Given the description of an element on the screen output the (x, y) to click on. 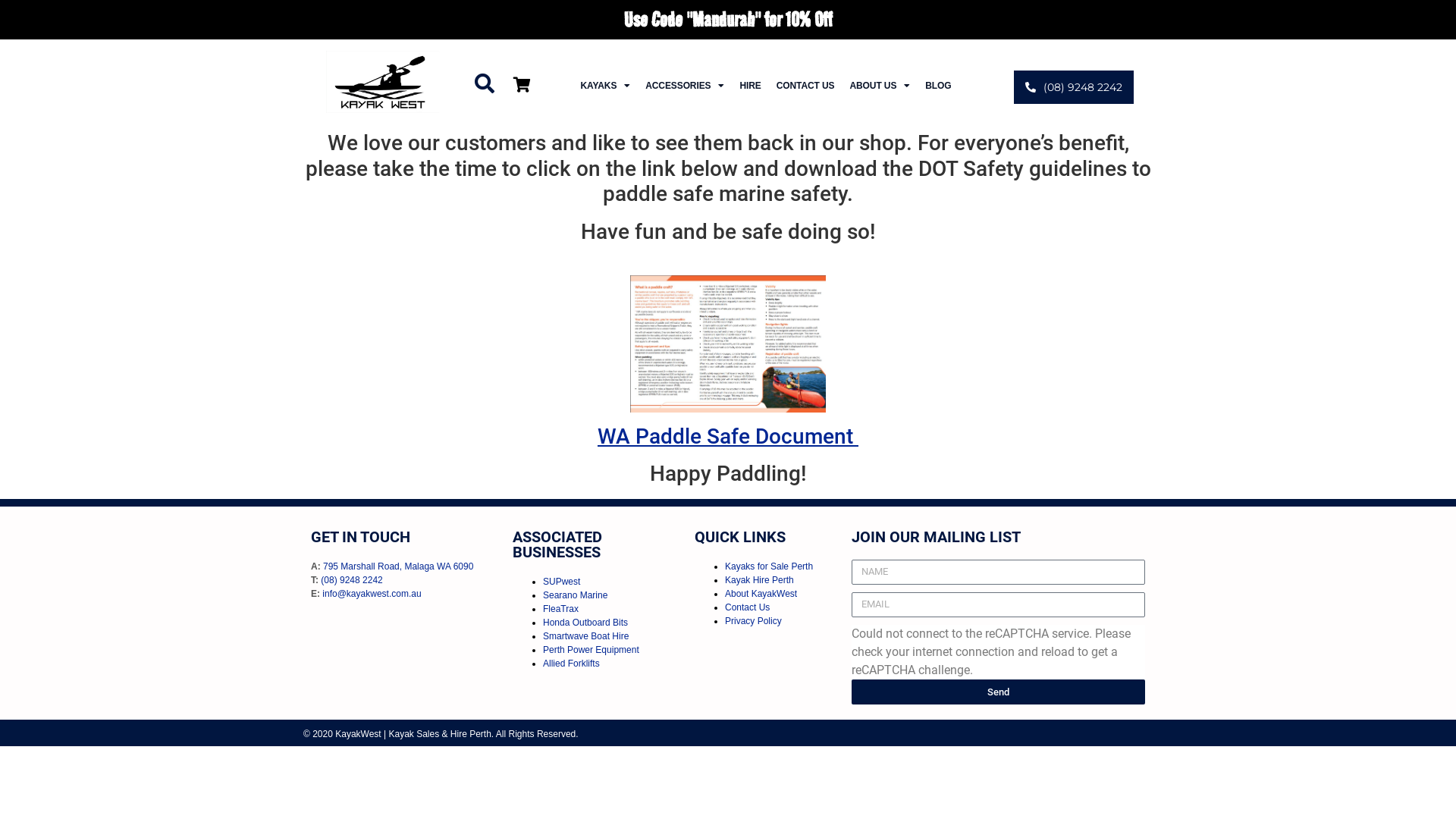
KAYAKS Element type: text (604, 85)
ACCESSORIES Element type: text (684, 85)
About KayakWest Element type: text (760, 593)
Perth Power Equipment Element type: text (590, 649)
Kayak Hire Perth Element type: text (758, 579)
BLOG Element type: text (937, 85)
FleaTrax Element type: text (560, 608)
Smartwave Boat Hire Element type: text (585, 635)
795 Marshall Road, Malaga WA 6090 Element type: text (398, 566)
Privacy Policy Element type: text (752, 620)
ABOUT US Element type: text (879, 85)
kayak west logo 50 275 Element type: hover (382, 81)
Allied Forklifts Element type: text (570, 663)
Contact Us Element type: text (746, 607)
Send Element type: text (998, 691)
WA Paddle Safe Document  Element type: text (727, 435)
HIRE Element type: text (749, 85)
Honda Outboard Bits Element type: text (584, 622)
info@kayakwest.com.au Element type: text (371, 593)
Kayaks for Sale Perth Element type: text (768, 566)
Searano Marine Element type: text (574, 594)
CONTACT US Element type: text (805, 85)
(08) 9248 2242 Element type: text (1073, 86)
(08) 9248 2242 Element type: text (351, 579)
SUPwest Element type: text (561, 581)
